Given the description of an element on the screen output the (x, y) to click on. 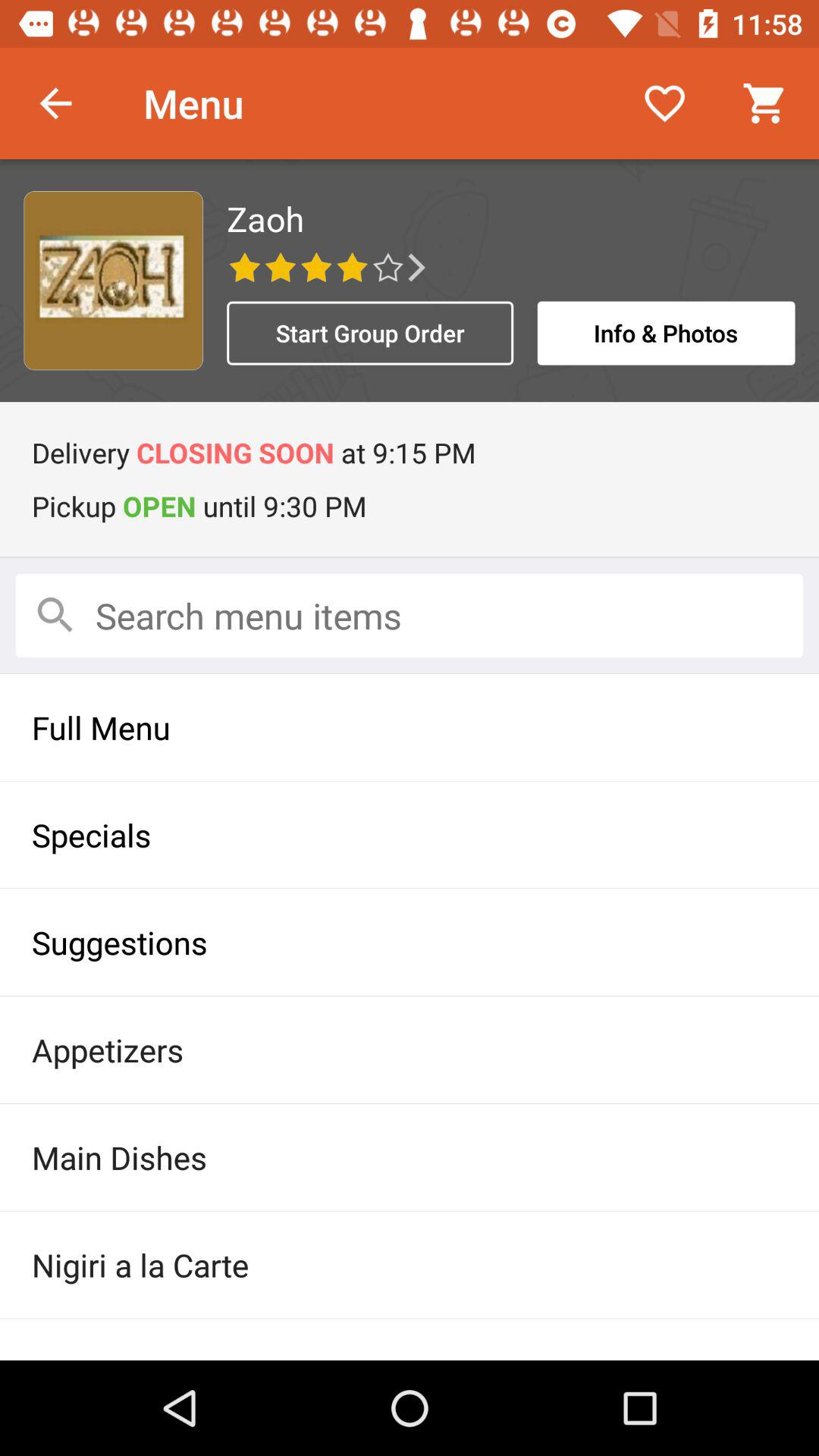
press the item above delivery closing soon item (369, 333)
